Given the description of an element on the screen output the (x, y) to click on. 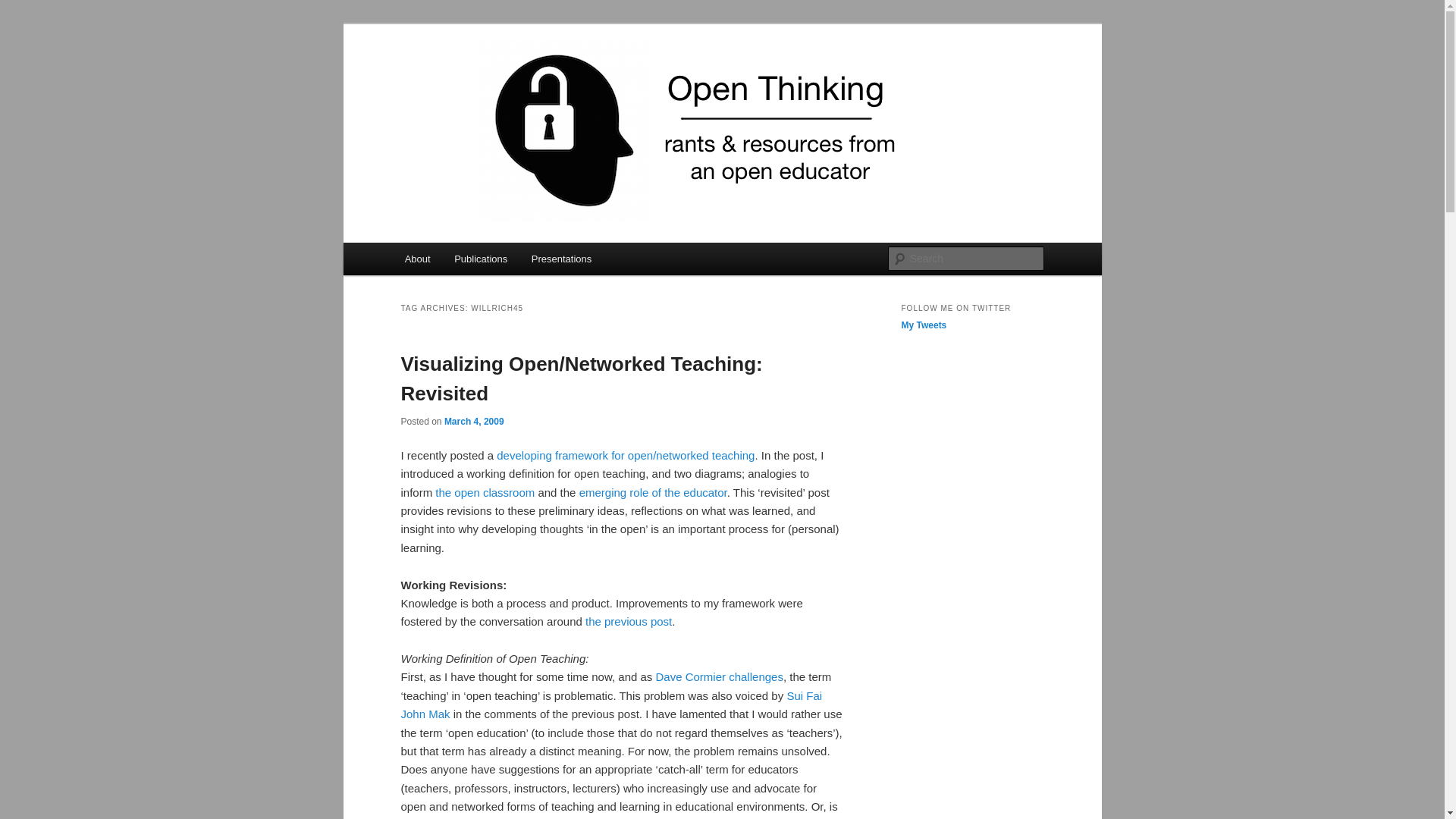
the open classroom (484, 492)
Search (24, 8)
Sui Fai John Mak (611, 704)
About (417, 258)
the previous post (628, 621)
Dave Cormier challenges (719, 676)
Publications (480, 258)
Presentations (561, 258)
March 4, 2009 (473, 420)
emerging role of the educator (652, 492)
12:21 am (473, 420)
open thinking (475, 78)
